Given the description of an element on the screen output the (x, y) to click on. 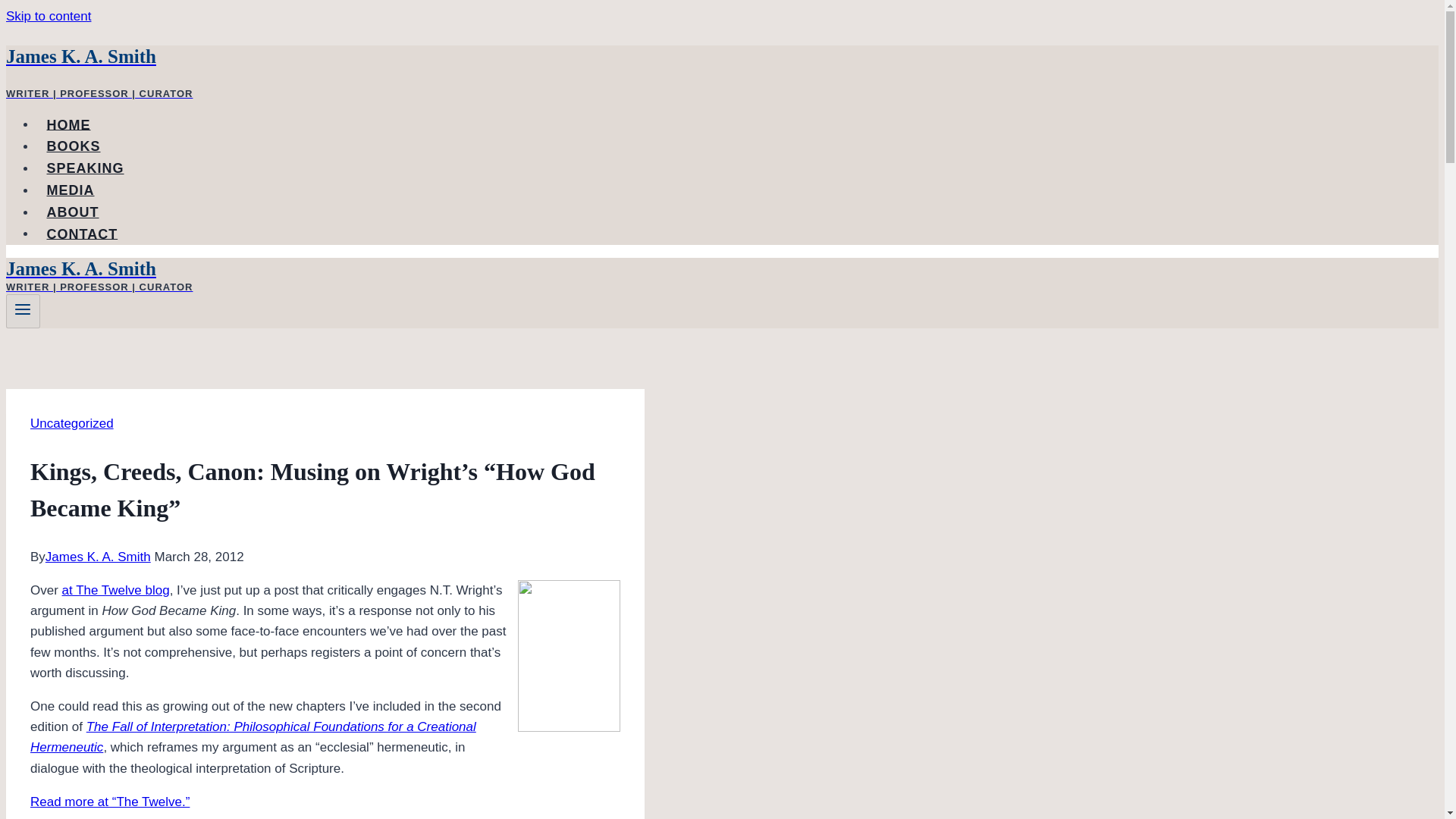
CONTACT (82, 234)
Skip to content (47, 16)
Toggle Menu (22, 309)
at The Twelve blog (116, 590)
MEDIA (70, 190)
SPEAKING (84, 168)
Uncategorized (71, 423)
BOOKS (73, 146)
James K. A. Smith (98, 556)
